Given the description of an element on the screen output the (x, y) to click on. 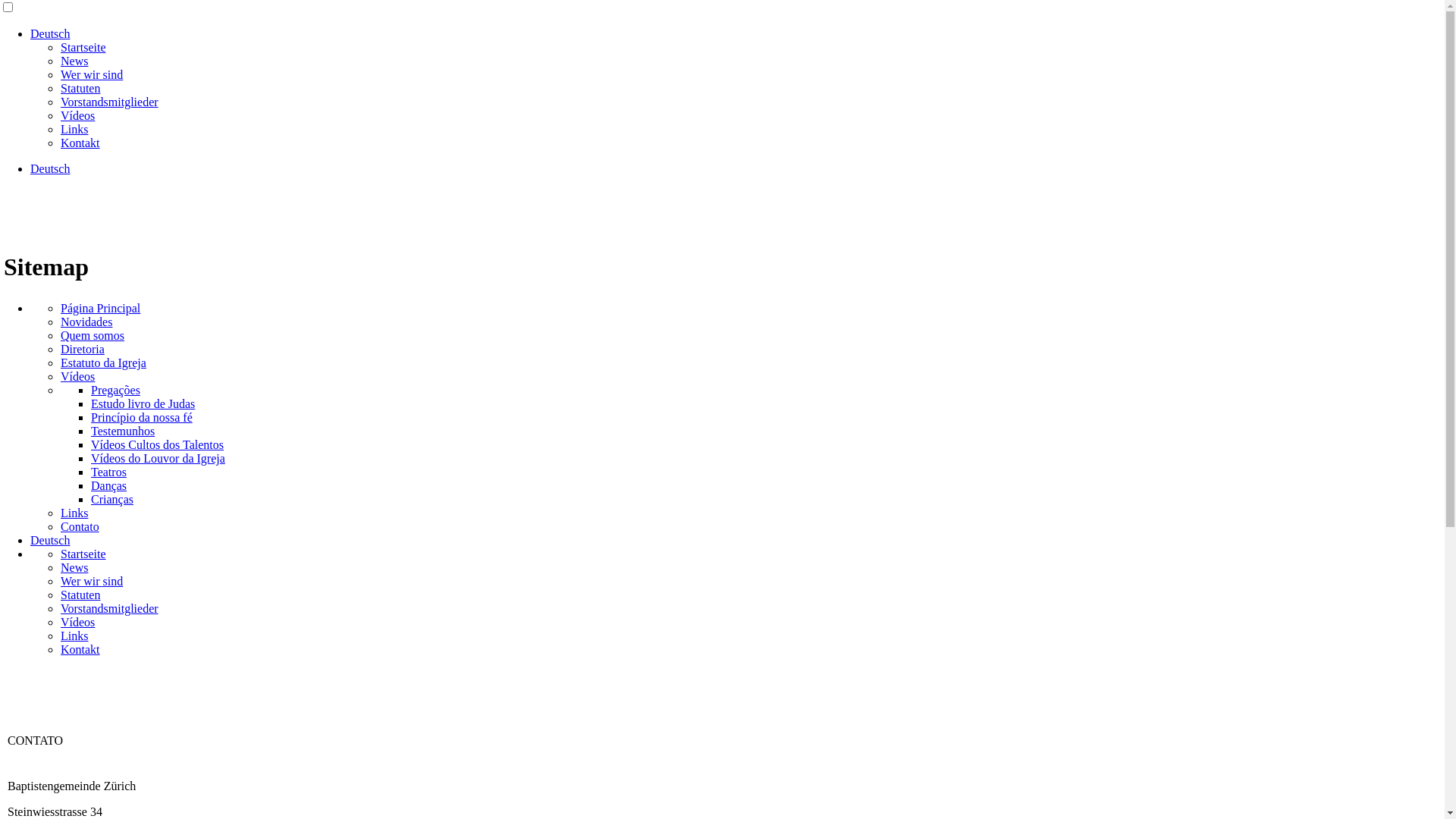
Wer wir sind Element type: text (91, 580)
Links Element type: text (73, 635)
Testemunhos Element type: text (122, 430)
Statuten Element type: text (80, 594)
Deutsch Element type: text (49, 33)
Deutsch Element type: text (49, 168)
Kontakt Element type: text (80, 142)
Novidades Element type: text (86, 321)
Teatros Element type: text (108, 471)
Diretoria Element type: text (82, 348)
Vorstandsmitglieder Element type: text (109, 101)
News Element type: text (73, 567)
Startseite Element type: text (83, 46)
Estatuto da Igreja Element type: text (103, 362)
Startseite Element type: text (83, 553)
Estudo livro de Judas Element type: text (142, 403)
Links Element type: text (73, 512)
Wer wir sind Element type: text (91, 74)
Vorstandsmitglieder Element type: text (109, 608)
Contato Element type: text (79, 526)
Statuten Element type: text (80, 87)
Links Element type: text (73, 128)
Kontakt Element type: text (80, 649)
Deutsch Element type: text (49, 539)
News Element type: text (73, 60)
Quem somos Element type: text (92, 335)
